Given the description of an element on the screen output the (x, y) to click on. 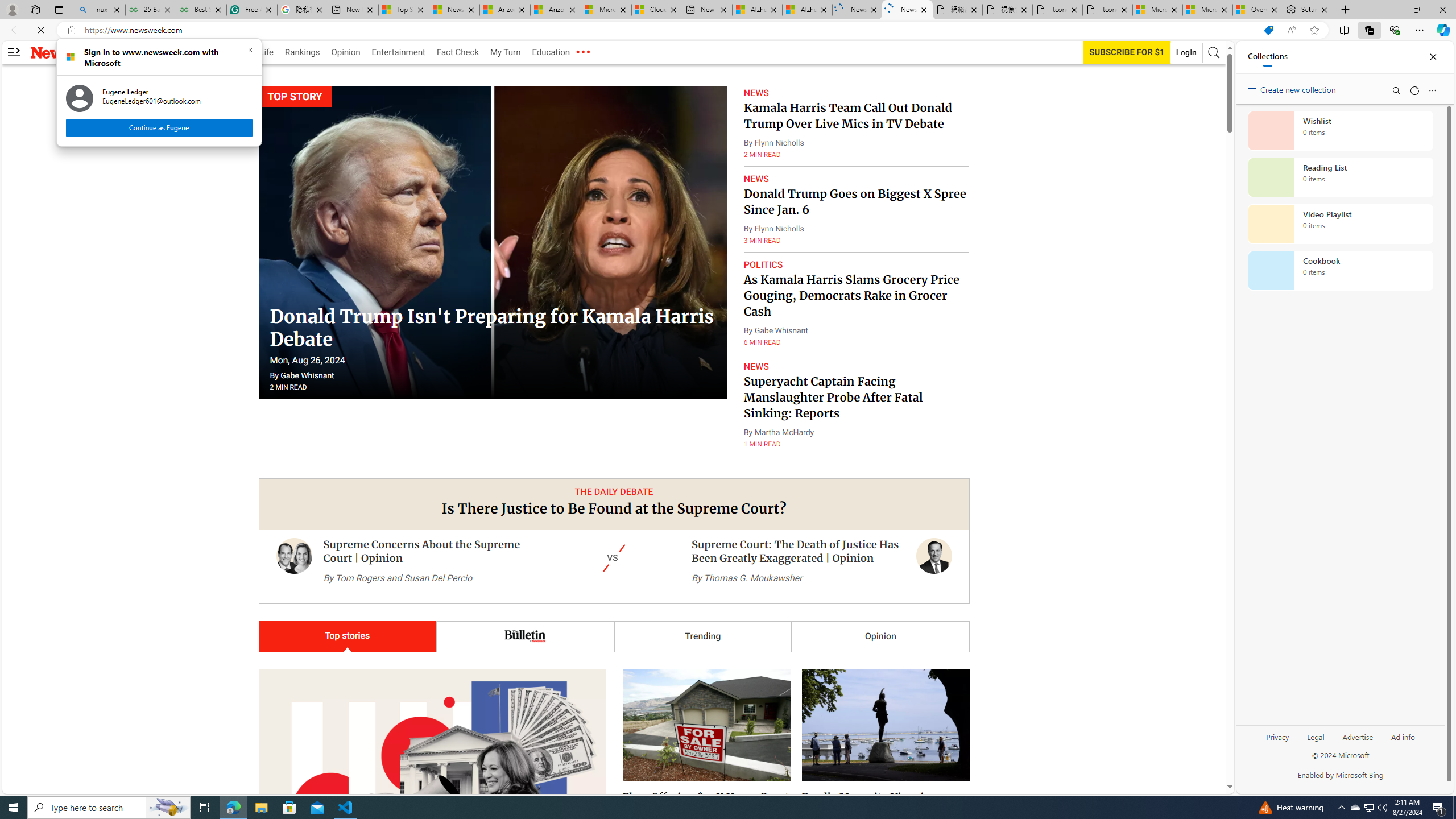
Wishlist collection, 0 items (1339, 130)
Rankings (302, 52)
Supreme Concerns About the Supreme Court | Opinion (293, 566)
Fact Check (457, 52)
Login (1186, 51)
